Given the description of an element on the screen output the (x, y) to click on. 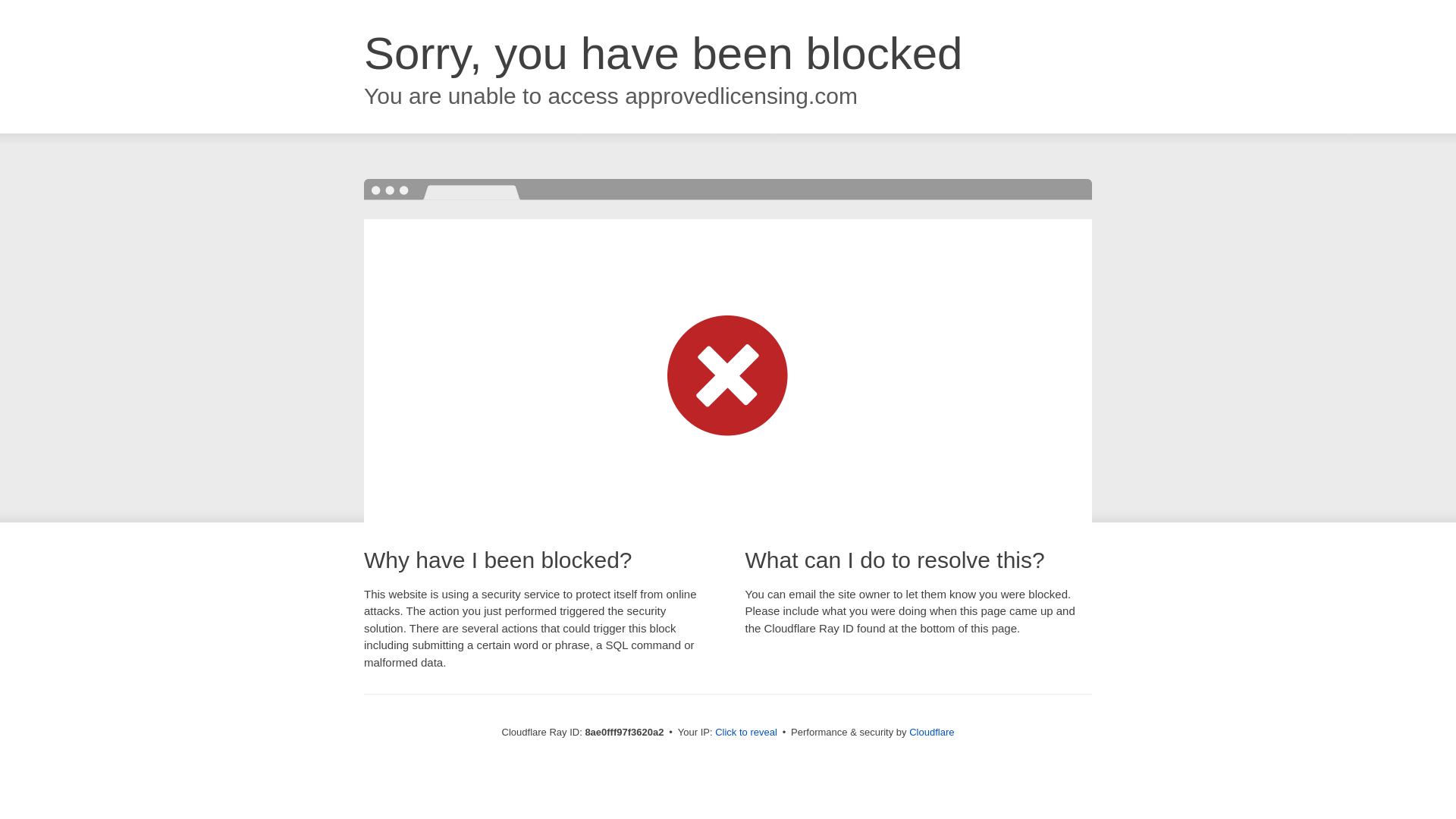
Cloudflare (930, 731)
Click to reveal (745, 732)
